Given the description of an element on the screen output the (x, y) to click on. 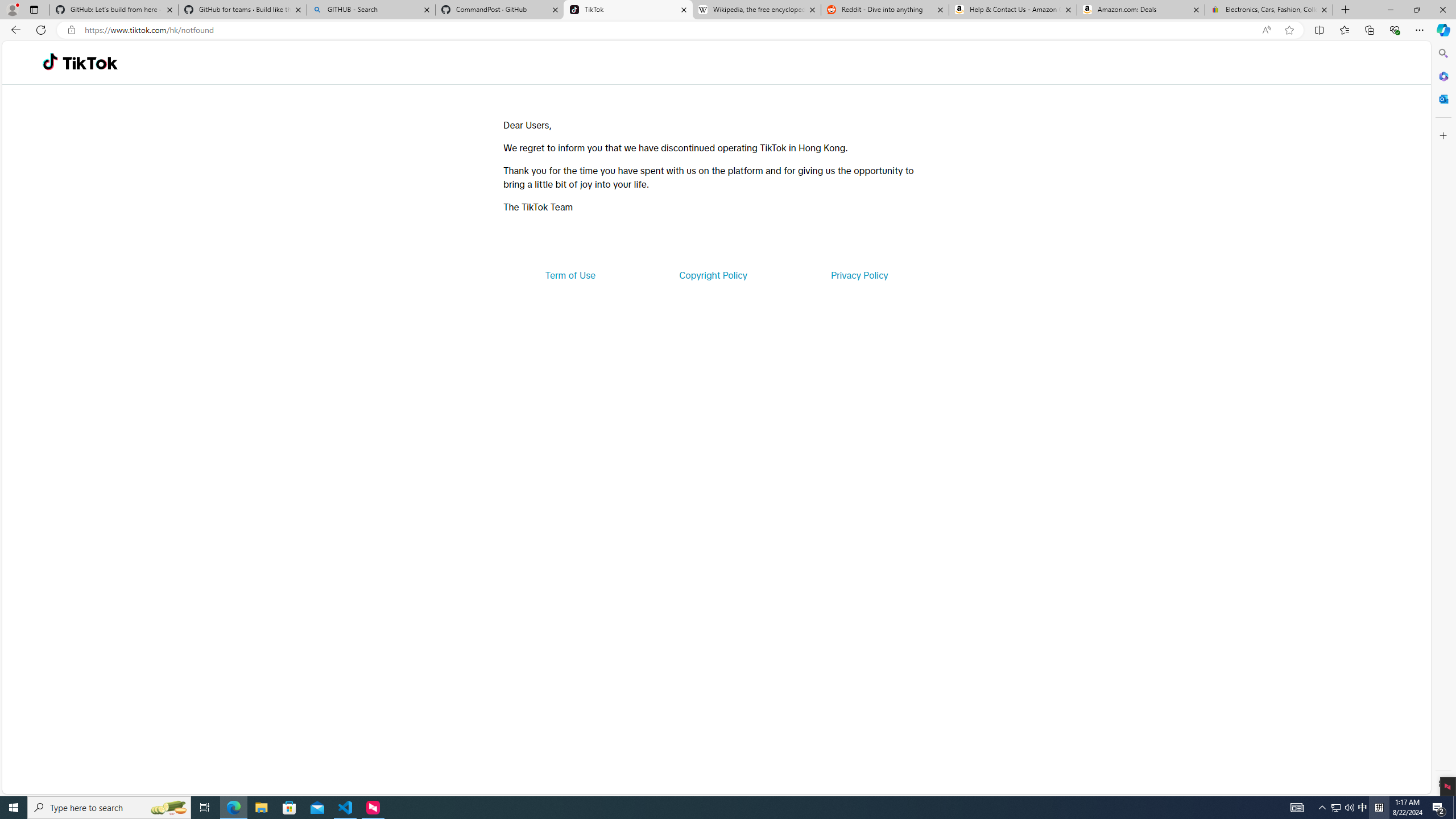
Copyright Policy (712, 274)
TikTok (628, 9)
Wikipedia, the free encyclopedia (756, 9)
GITHUB - Search (370, 9)
